Given the description of an element on the screen output the (x, y) to click on. 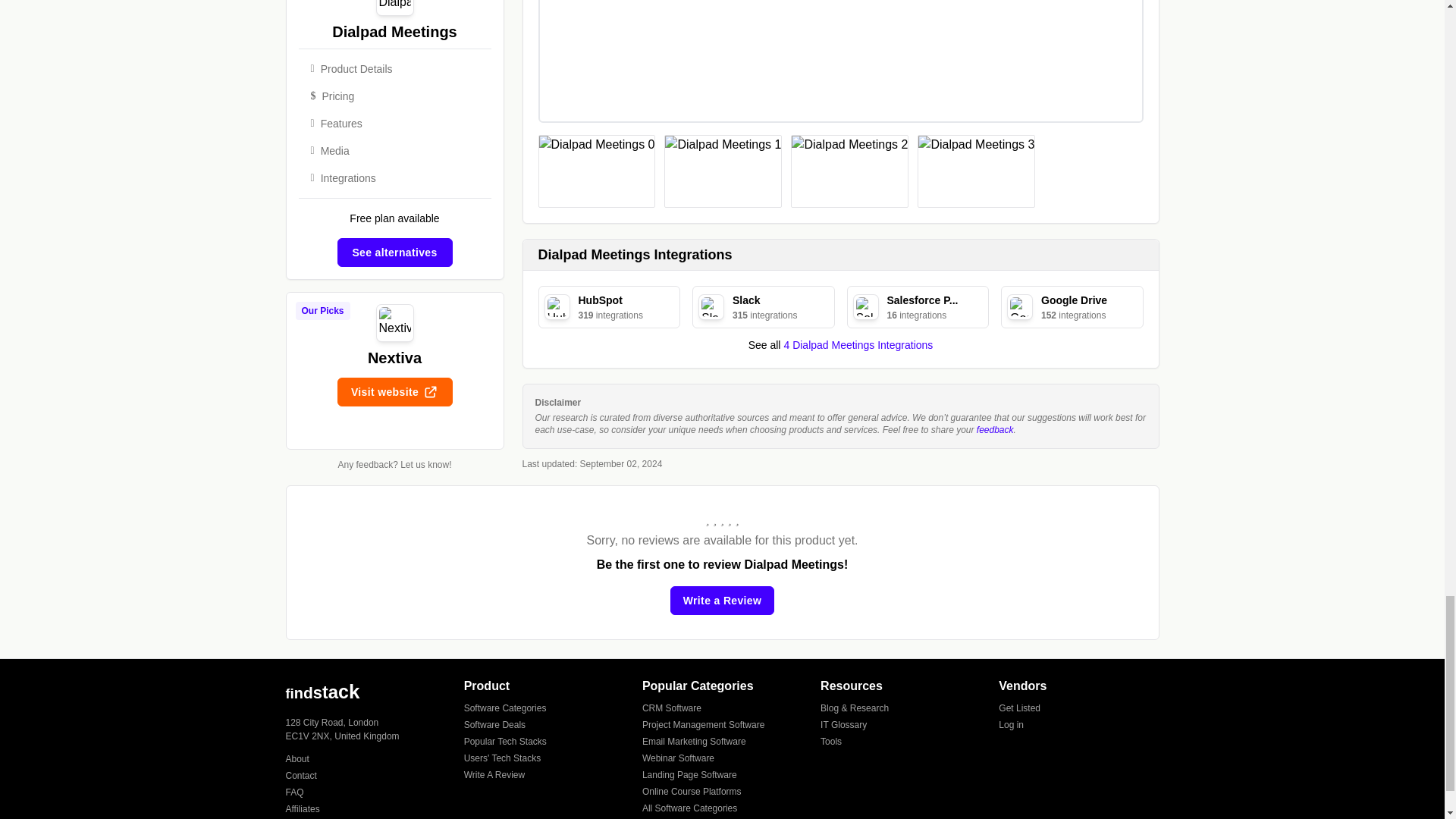
HubSpot (557, 306)
Dialpad Meetings Product Video (840, 61)
Salesforce Platform (865, 306)
Google Drive (1019, 306)
Slack (710, 306)
